Given the description of an element on the screen output the (x, y) to click on. 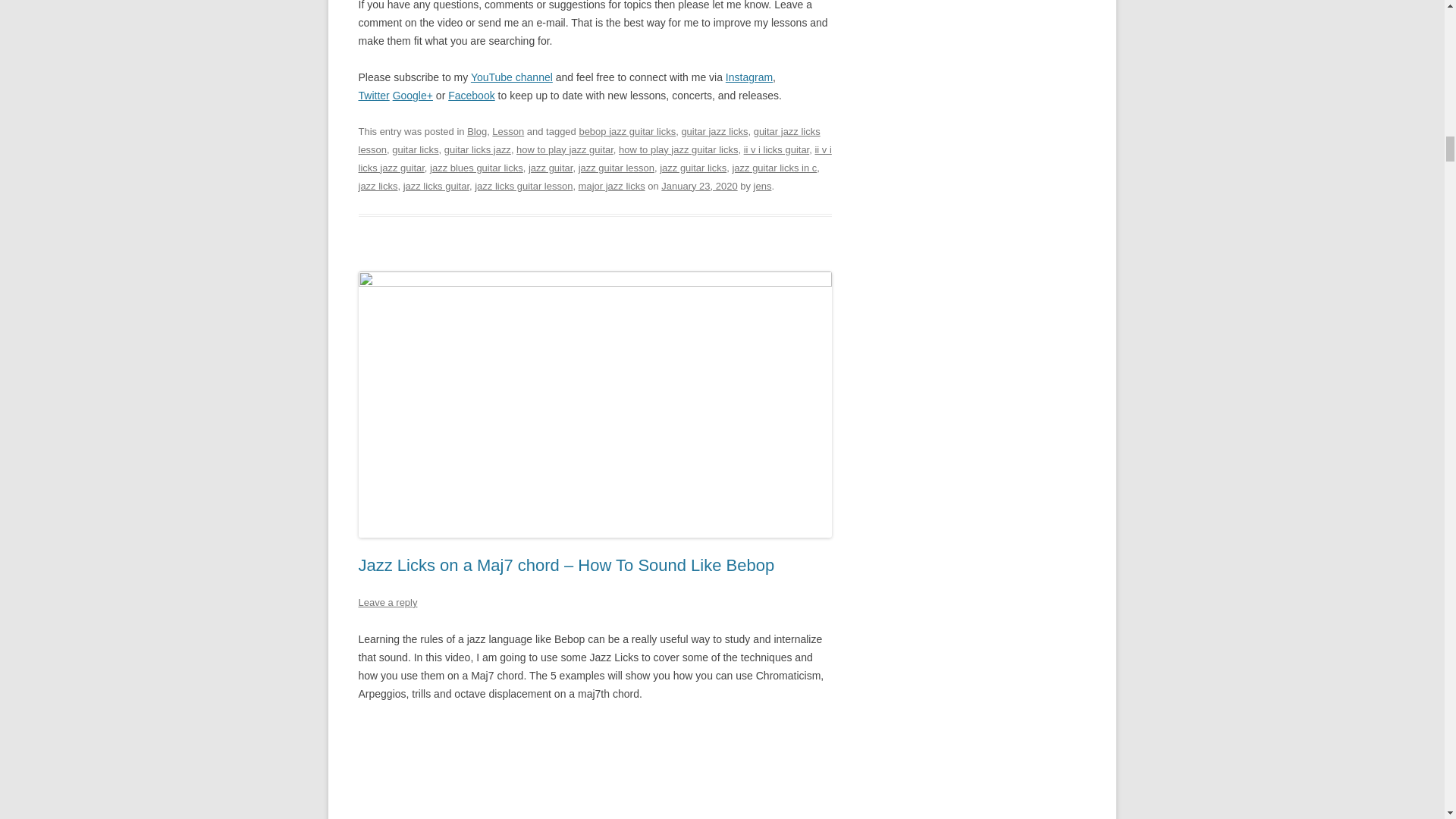
how to play jazz guitar (564, 149)
guitar jazz licks (714, 131)
jazz blues guitar licks (475, 167)
how to play jazz guitar licks (678, 149)
Lesson (508, 131)
bebop jazz guitar licks (626, 131)
ii v i licks jazz guitar (594, 158)
ii v i licks guitar (776, 149)
guitar jazz licks lesson (588, 140)
guitar licks jazz (477, 149)
